Given the description of an element on the screen output the (x, y) to click on. 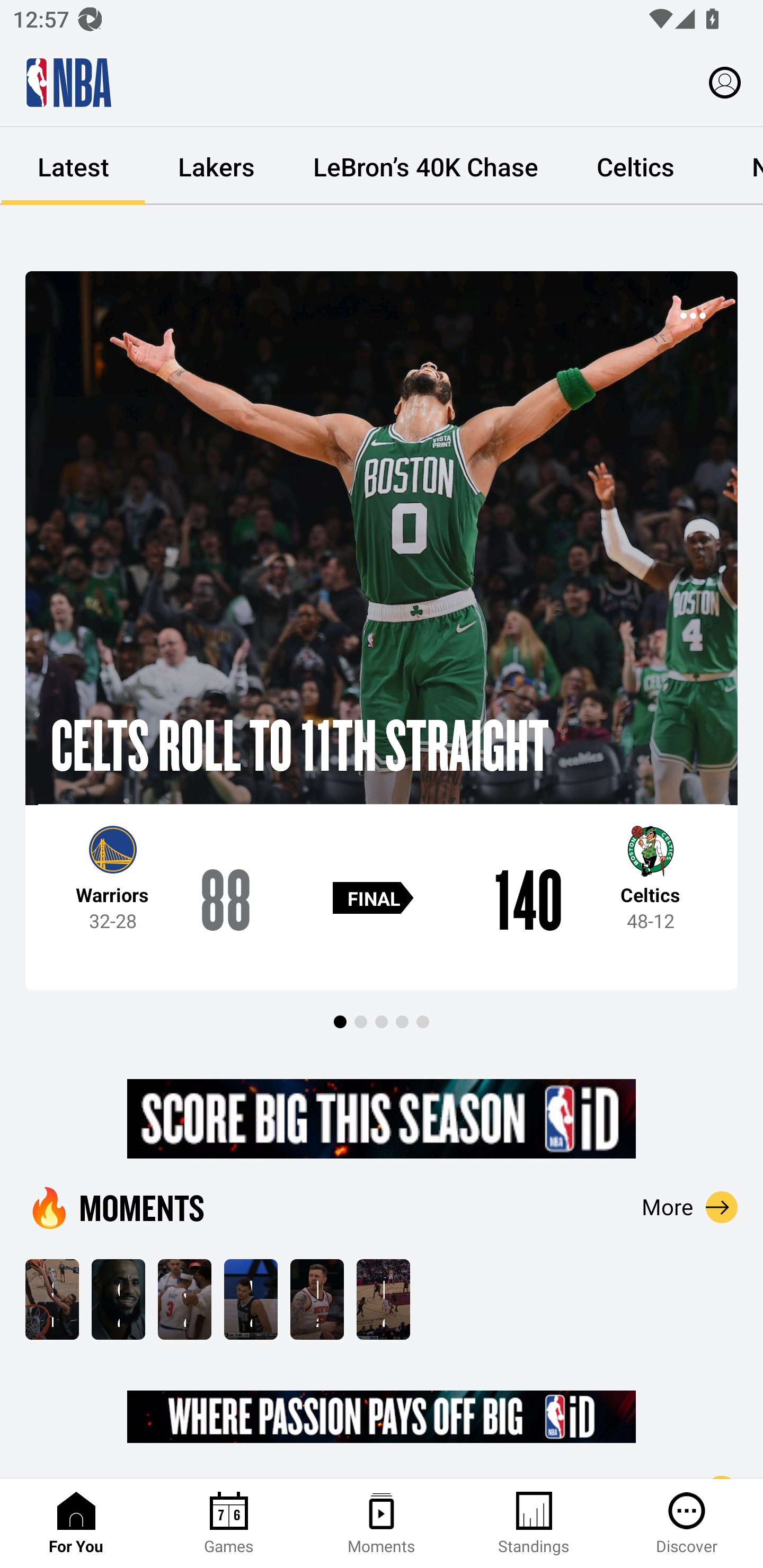
Profile (724, 81)
Lakers (215, 166)
LeBron’s 40K Chase (425, 166)
Celtics (634, 166)
More (689, 1207)
Sunday's Top Plays In 30 Seconds ⏱ (51, 1299)
Hartenstein Drops The Hammer 🔨 (317, 1299)
Games (228, 1523)
Moments (381, 1523)
Standings (533, 1523)
Discover (686, 1523)
